Given the description of an element on the screen output the (x, y) to click on. 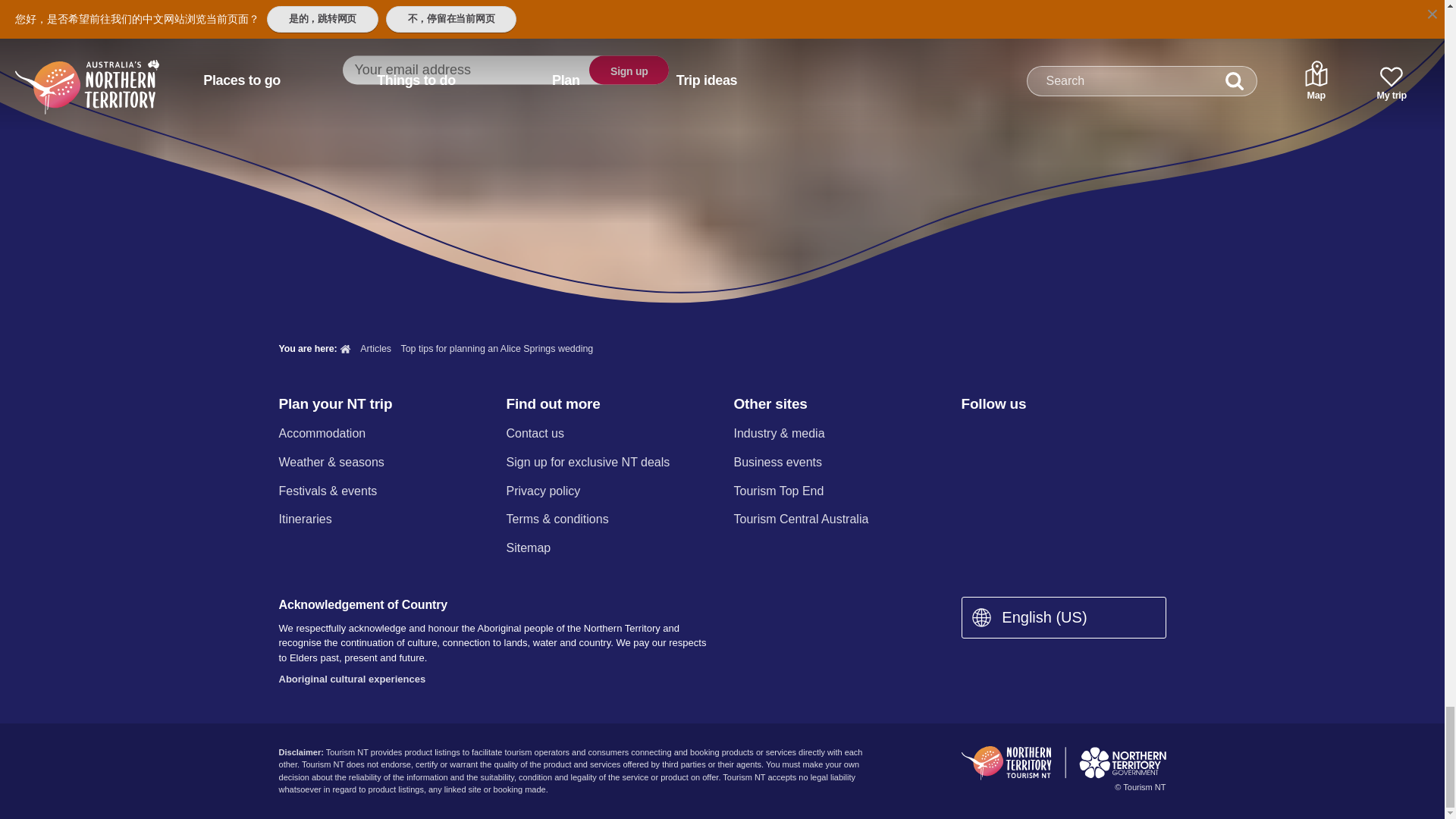
YouTube (1089, 434)
Trip Advisor (1129, 434)
Twitter (1050, 434)
Facebook (970, 434)
Instagram (1009, 434)
